Given the description of an element on the screen output the (x, y) to click on. 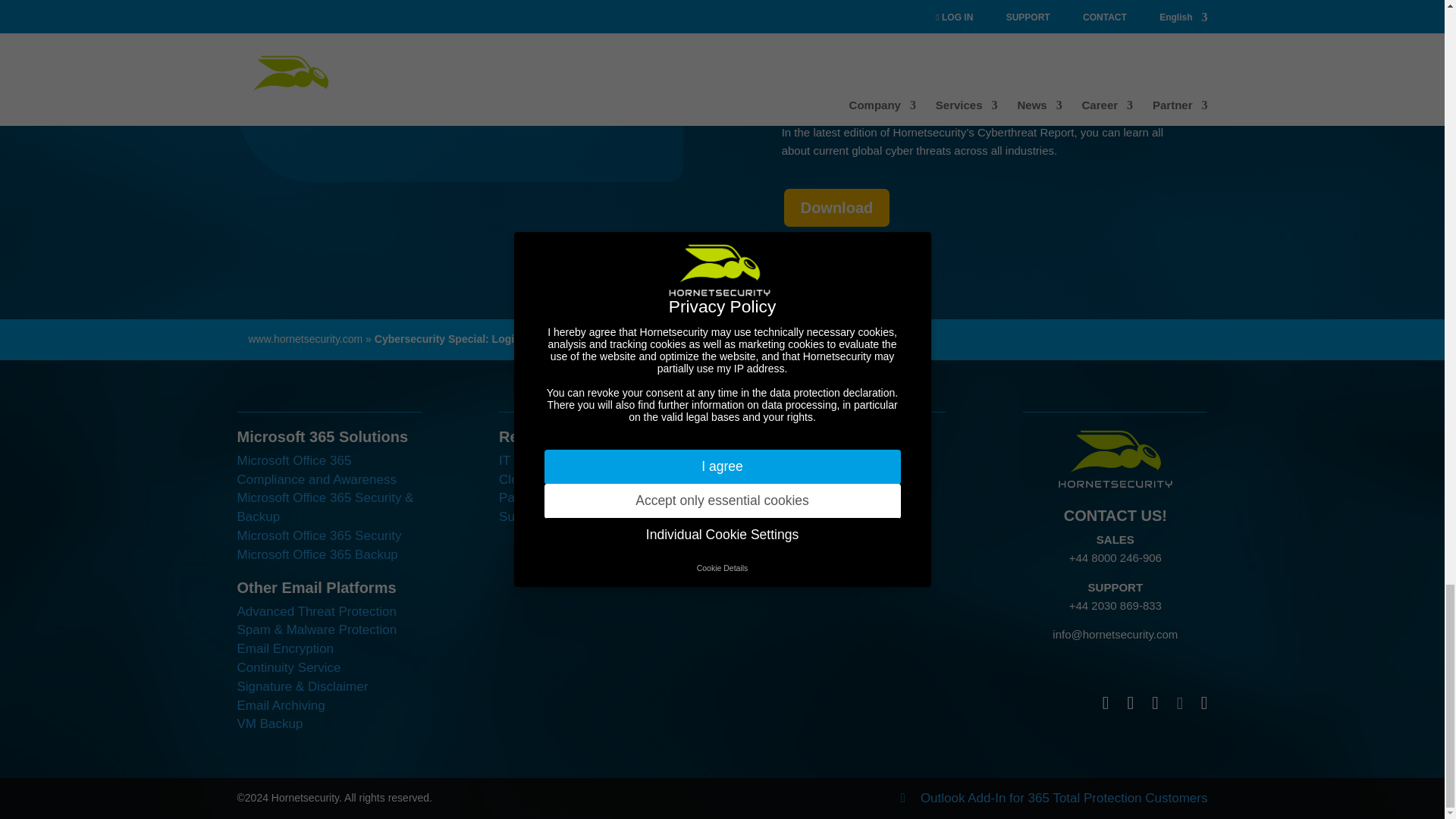
Download now (342, 93)
